Given the description of an element on the screen output the (x, y) to click on. 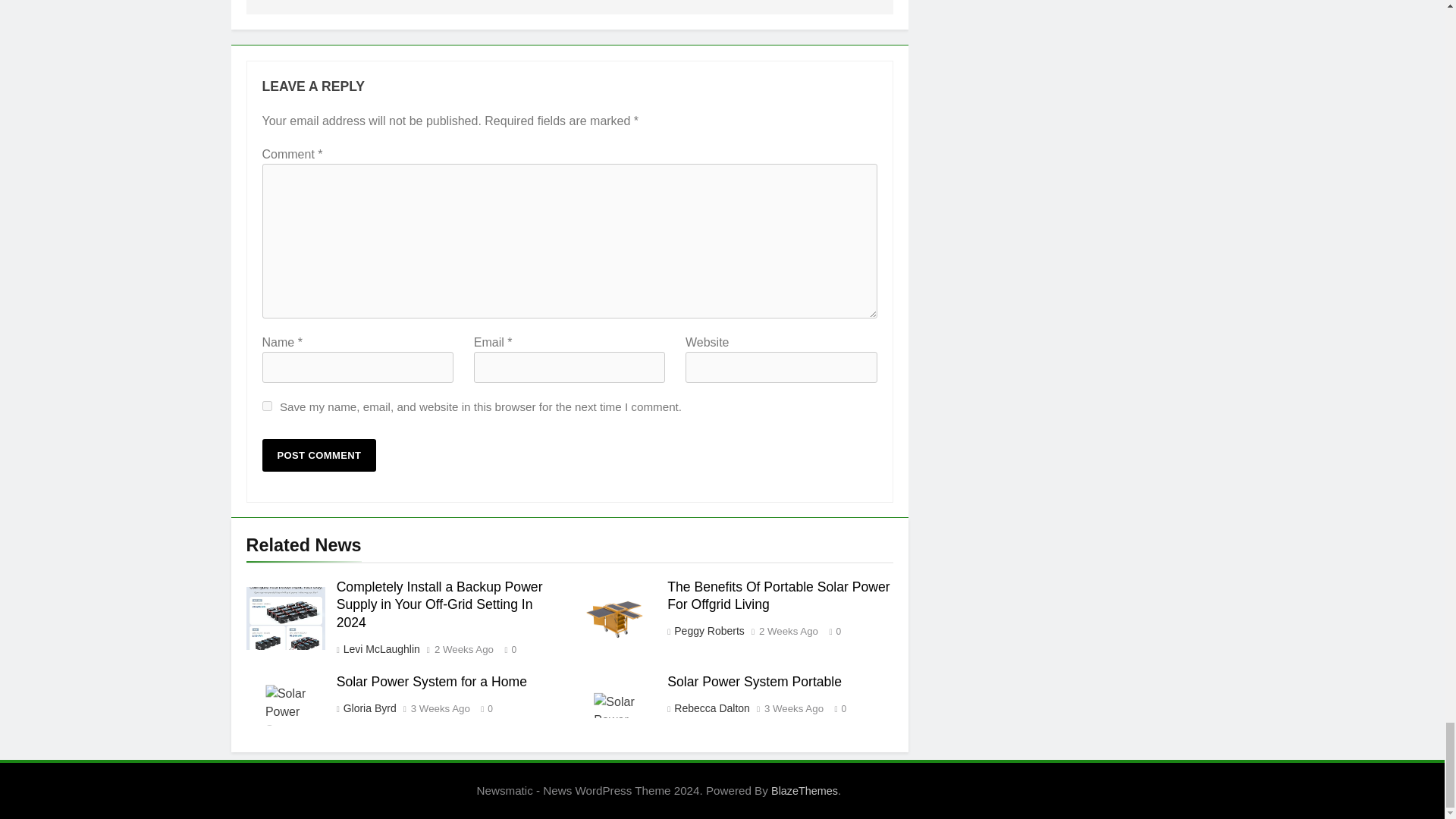
Post Comment (319, 454)
yes (267, 406)
